Given the description of an element on the screen output the (x, y) to click on. 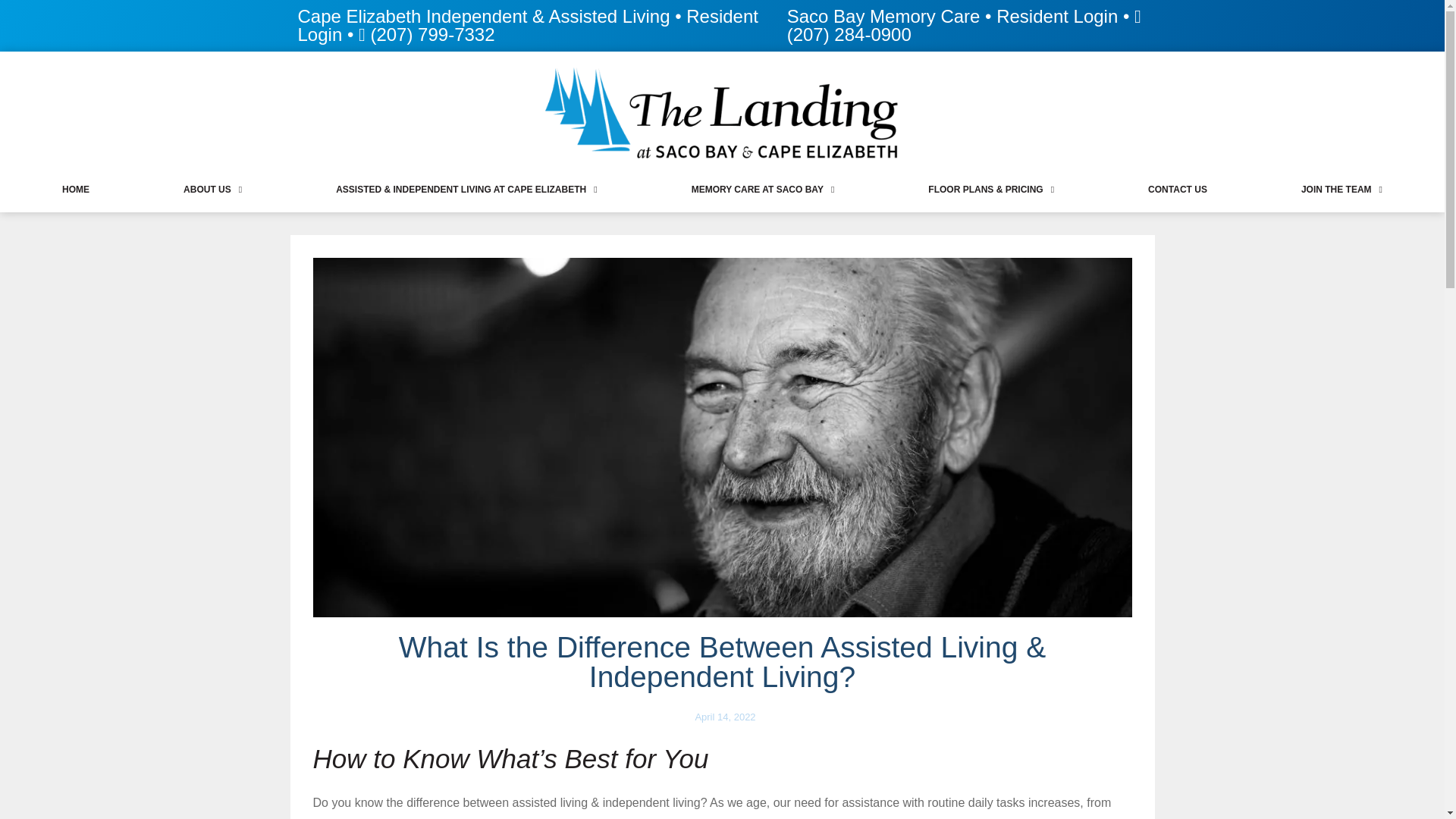
JOIN THE TEAM (1341, 189)
HOME (75, 189)
MEMORY CARE AT SACO BAY (763, 189)
Resident Login (527, 25)
Resident Login (1056, 15)
ABOUT US (212, 189)
CONTACT US (1176, 189)
